Given the description of an element on the screen output the (x, y) to click on. 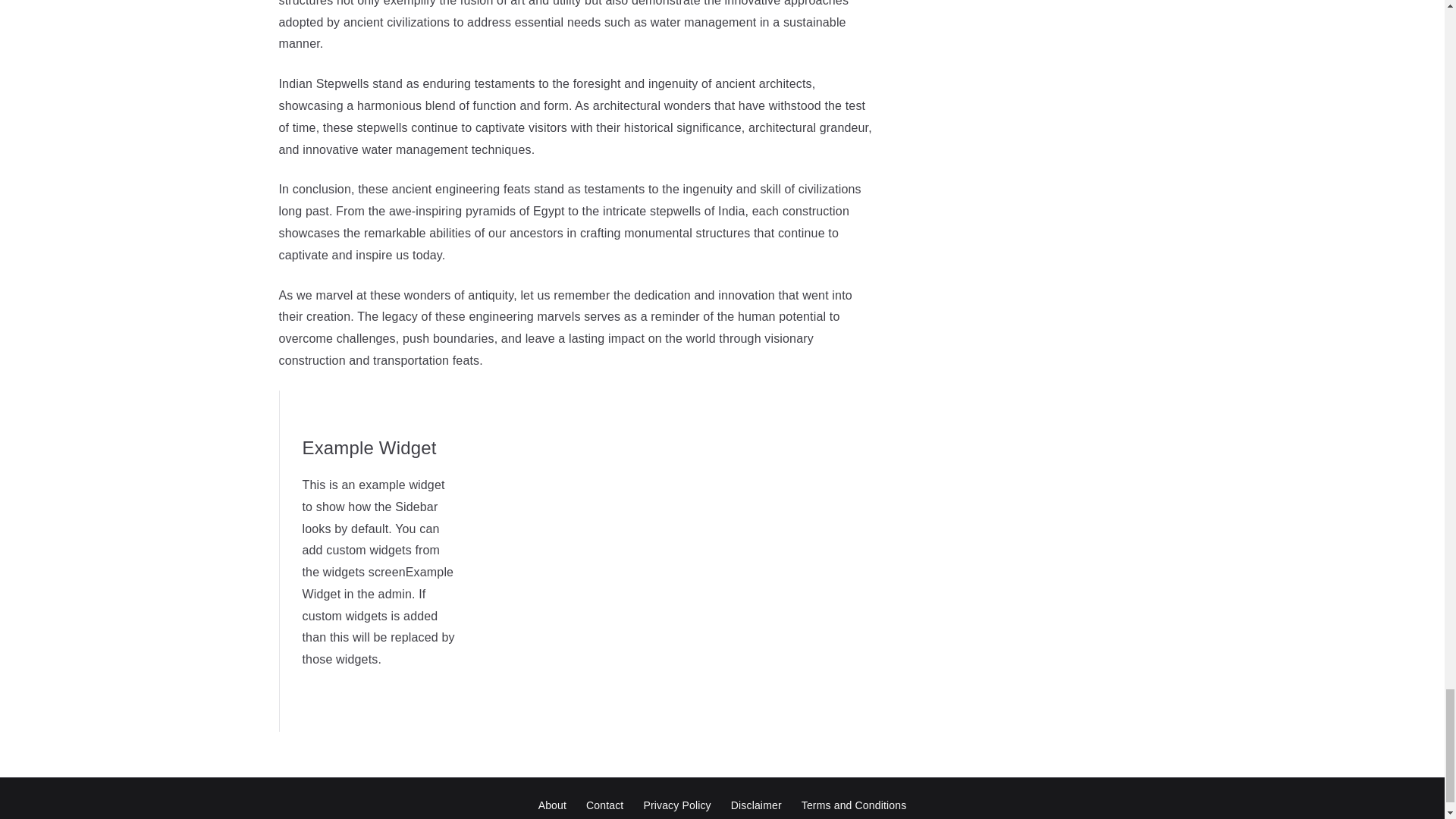
WordPress (839, 818)
About (552, 805)
Privacy Policy (676, 805)
Contact (604, 805)
Terms and Conditions (854, 805)
WordPress (839, 818)
Disclaimer (756, 805)
